Given the description of an element on the screen output the (x, y) to click on. 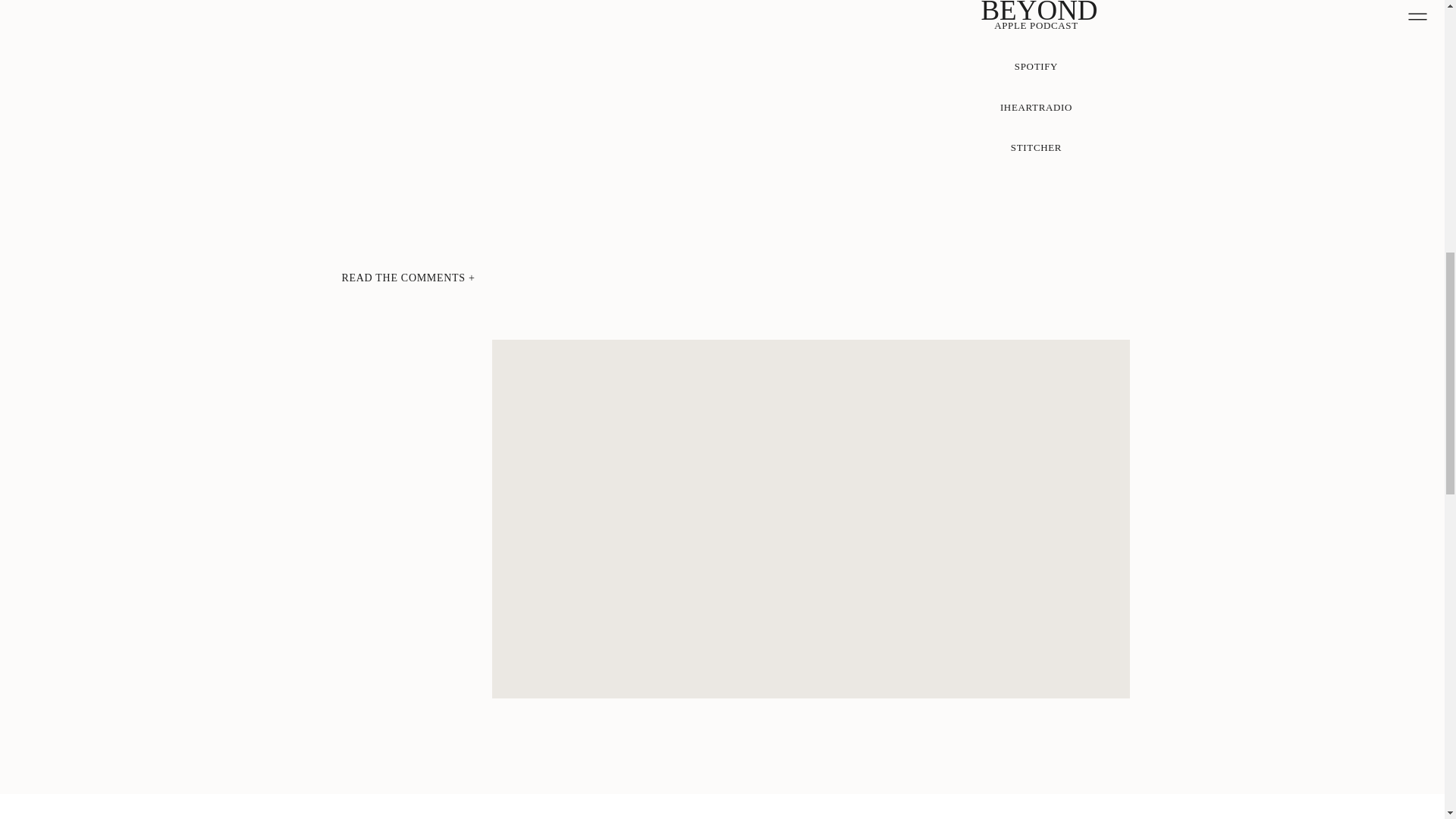
STITCHER (1036, 146)
SPOTIFY (1036, 66)
IHEARTRADIO (1036, 106)
APPLE PODCAST (1035, 24)
